Given the description of an element on the screen output the (x, y) to click on. 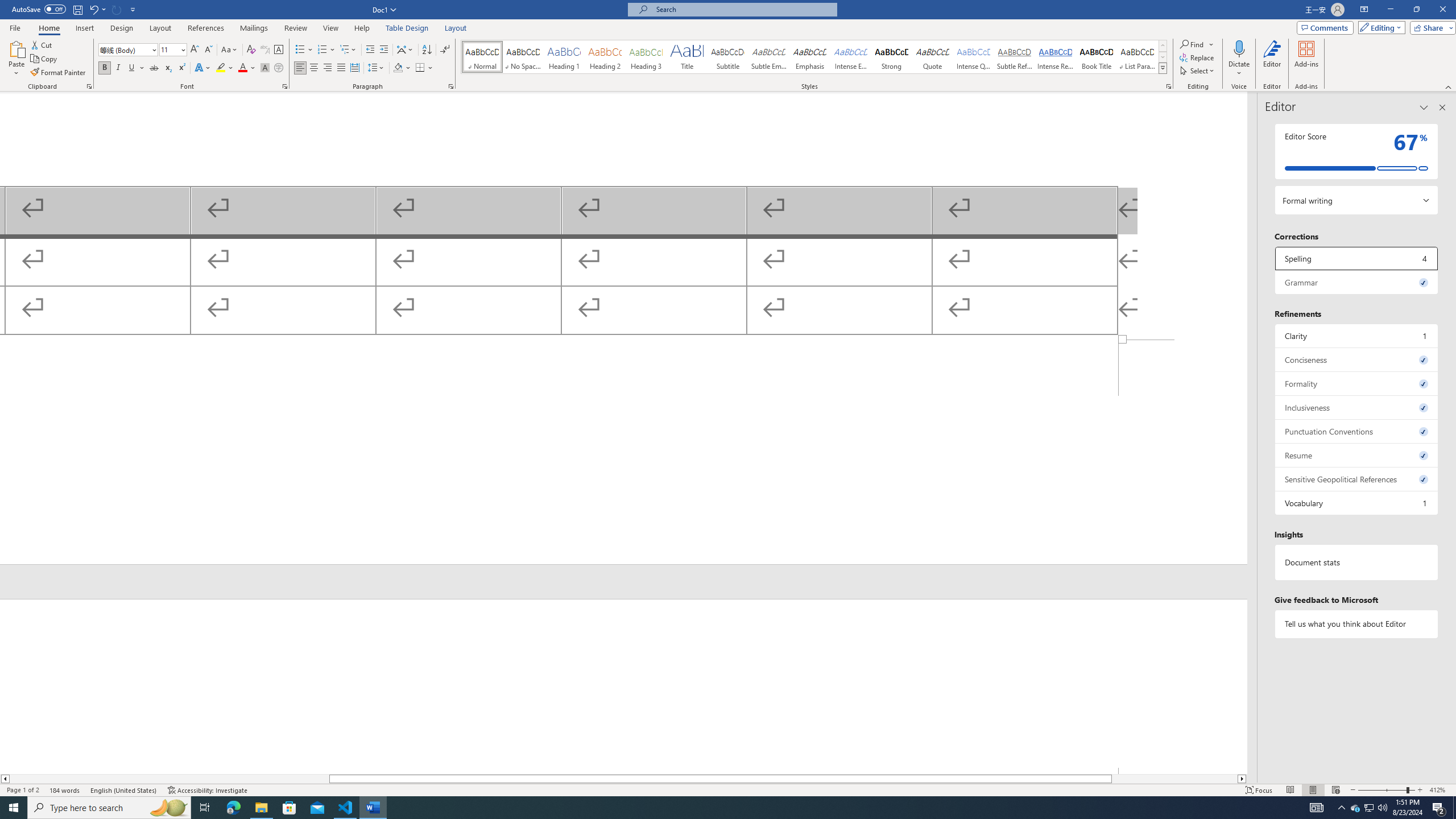
Grammar, 0 issues. Press space or enter to review items. (1356, 282)
Accessibility Checker Accessibility: Investigate (207, 790)
Subtle Emphasis (768, 56)
Title (686, 56)
Intense Quote (973, 56)
Superscript (180, 67)
Column right (1242, 778)
Justify (340, 67)
Center (313, 67)
